Given the description of an element on the screen output the (x, y) to click on. 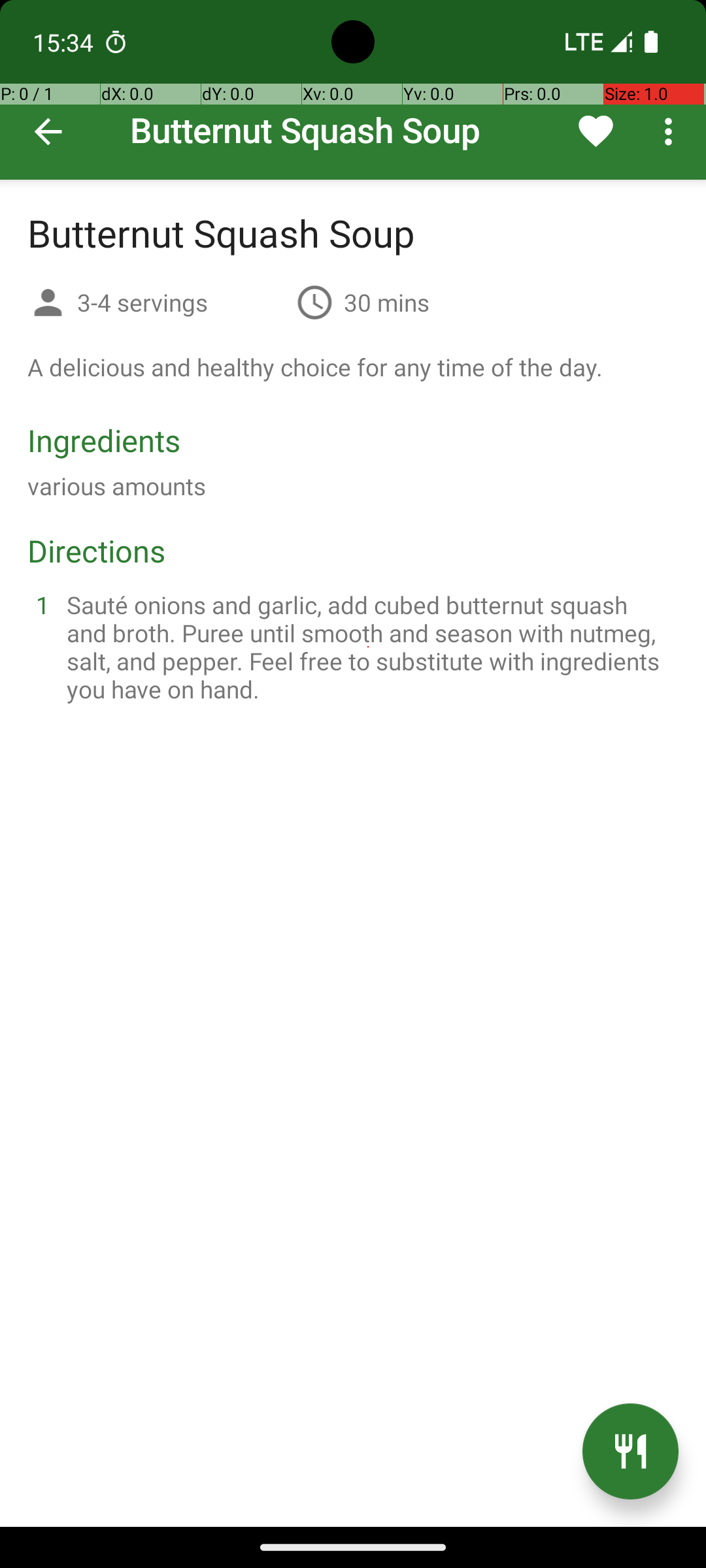
Sauté onions and garlic, add cubed butternut squash and broth. Puree until smooth and season with nutmeg, salt, and pepper. Feel free to substitute with ingredients you have on hand. Element type: android.widget.TextView (368, 646)
